Given the description of an element on the screen output the (x, y) to click on. 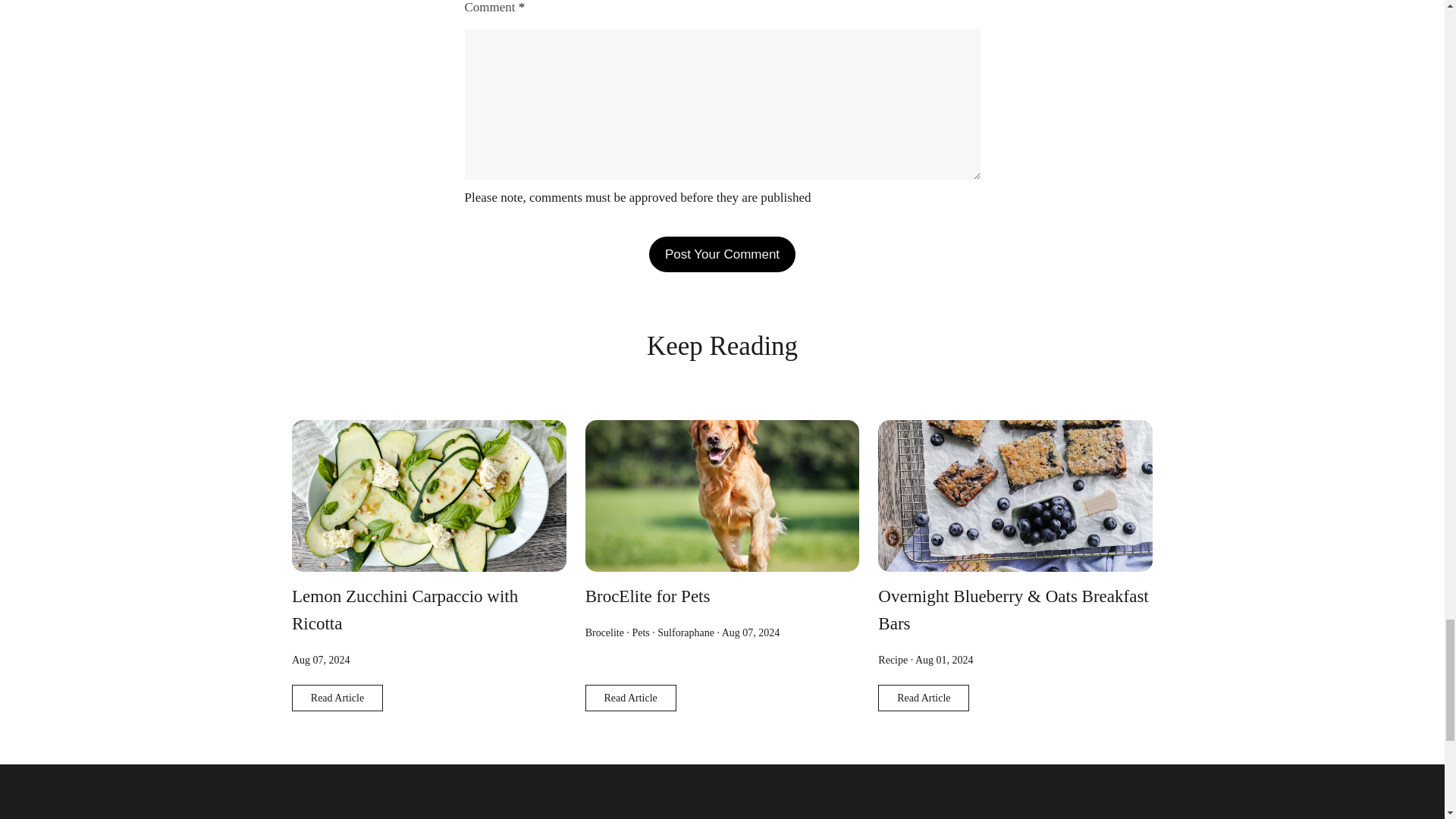
Lemon Zucchini Carpaccio with Ricotta (405, 610)
Post Your Comment (721, 253)
Read Article (631, 697)
BrocElite for Pets (647, 596)
Read Article (337, 697)
Read Article (923, 697)
Post Your Comment (721, 253)
